Given the description of an element on the screen output the (x, y) to click on. 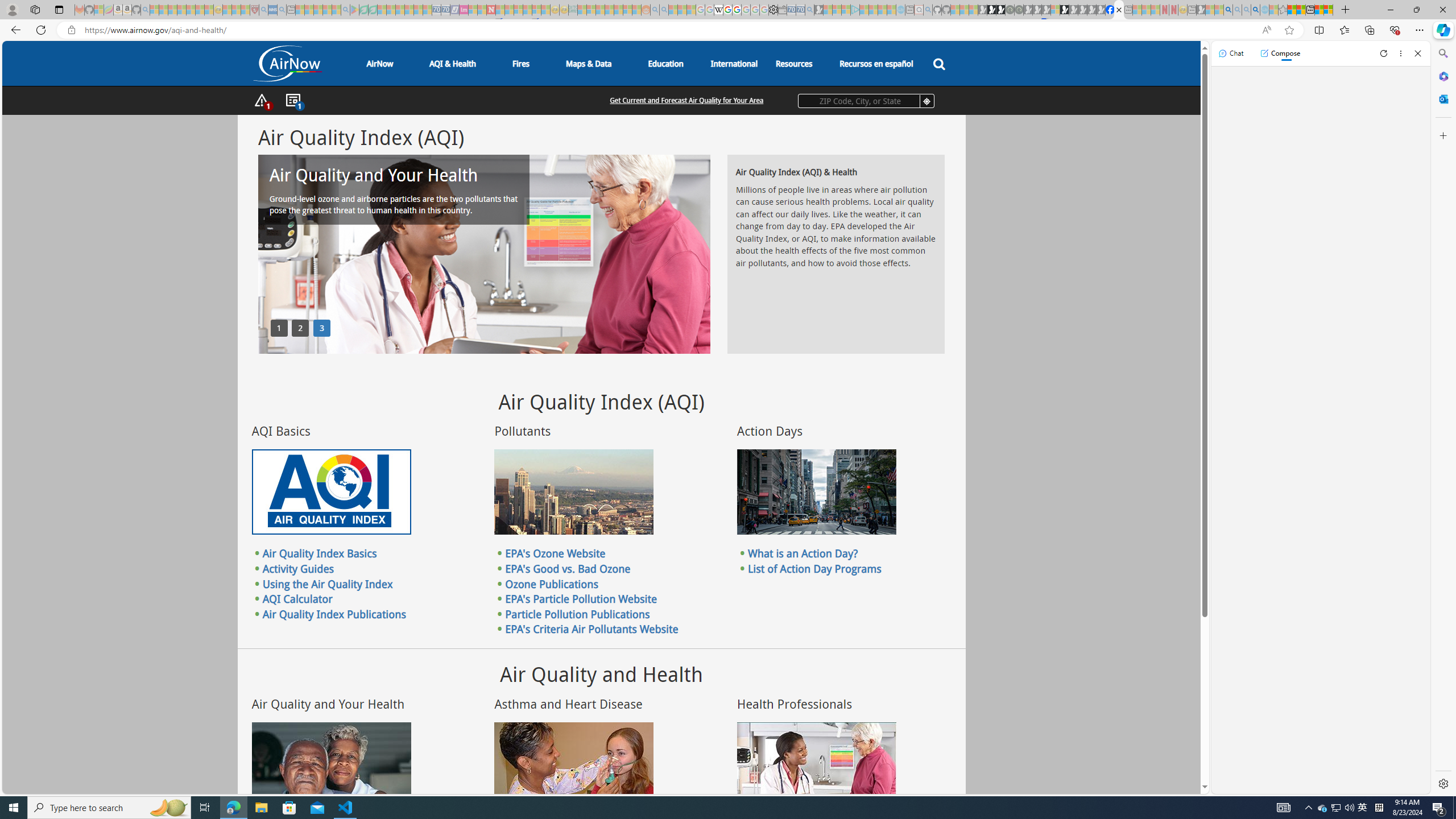
Sign in to your account - Sleeping (1054, 9)
Nordace | Facebook (1109, 9)
Future Focus Report 2024 - Sleeping (1018, 9)
Using the Air Quality Index (327, 583)
google - Search - Sleeping (345, 9)
List of Action Day Programs (814, 568)
Ozone Publications (551, 583)
1 (279, 327)
Class: main-link dropbtn-nav-link (876, 62)
